Given the description of an element on the screen output the (x, y) to click on. 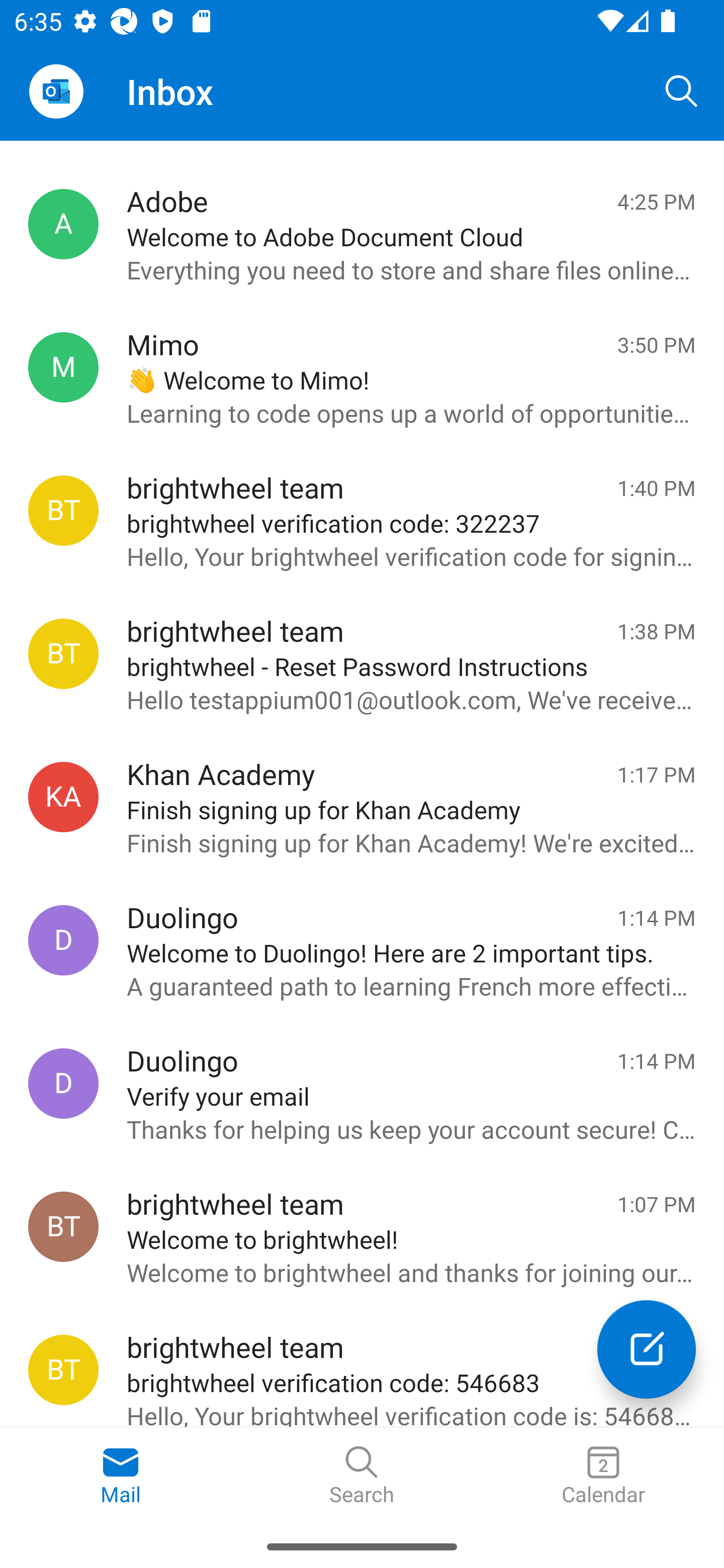
Search (681, 90)
Open Navigation Drawer (55, 91)
Adobe, message@adobe.com (63, 223)
Mimo, support@getmimo.com (63, 367)
brightwheel team, recovery@mybrightwheel.com (63, 510)
brightwheel team, recovery@mybrightwheel.com (63, 653)
Khan Academy, no-reply@khanacademy.org (63, 797)
Duolingo, hello@duolingo.com (63, 939)
Duolingo, hello@duolingo.com (63, 1082)
brightwheel team, welcome@mybrightwheel.com (63, 1226)
Compose (646, 1348)
brightwheel team, recovery@mybrightwheel.com (63, 1369)
Search (361, 1475)
Calendar (603, 1475)
